Given the description of an element on the screen output the (x, y) to click on. 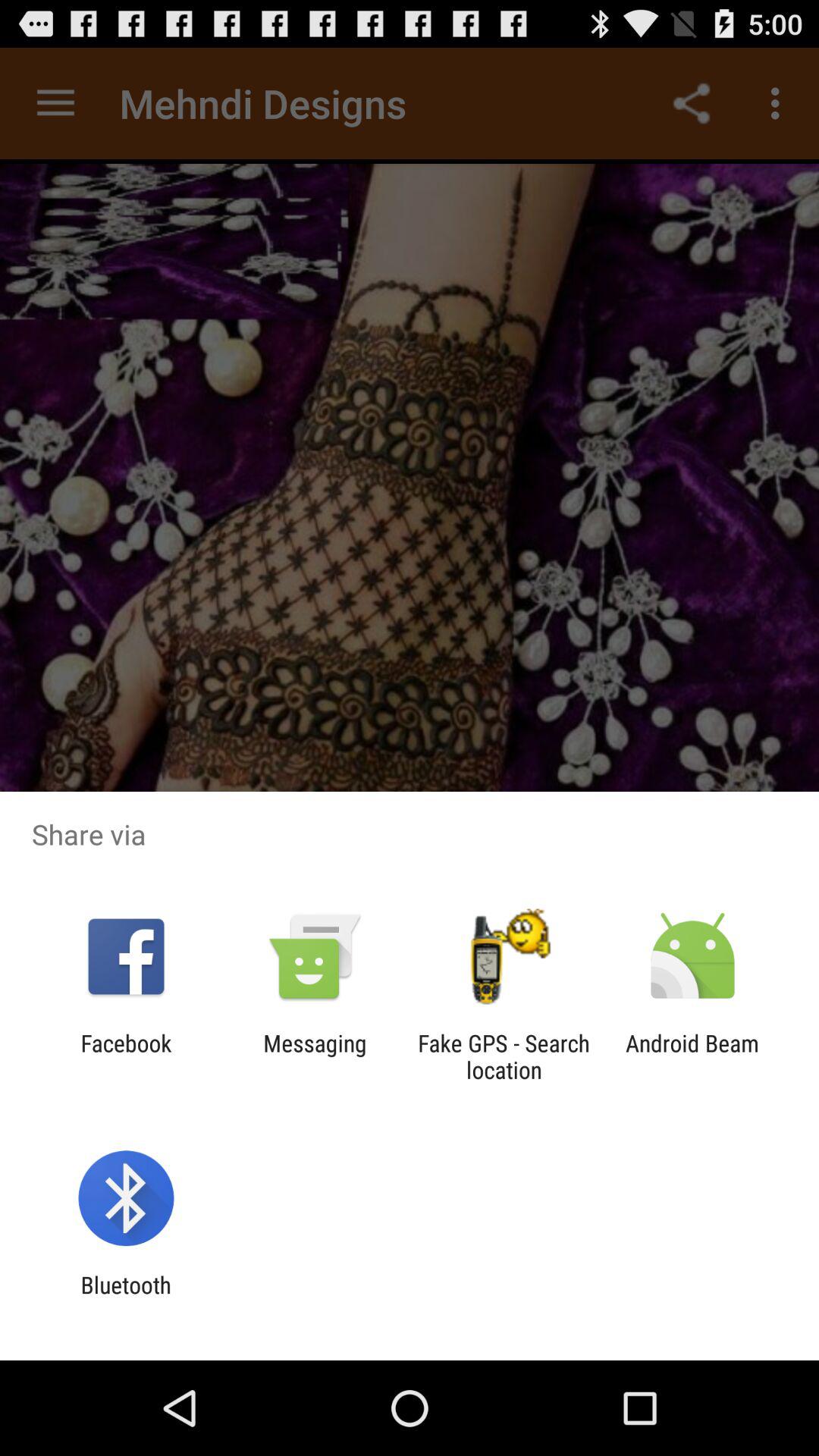
choose the fake gps search item (503, 1056)
